Given the description of an element on the screen output the (x, y) to click on. 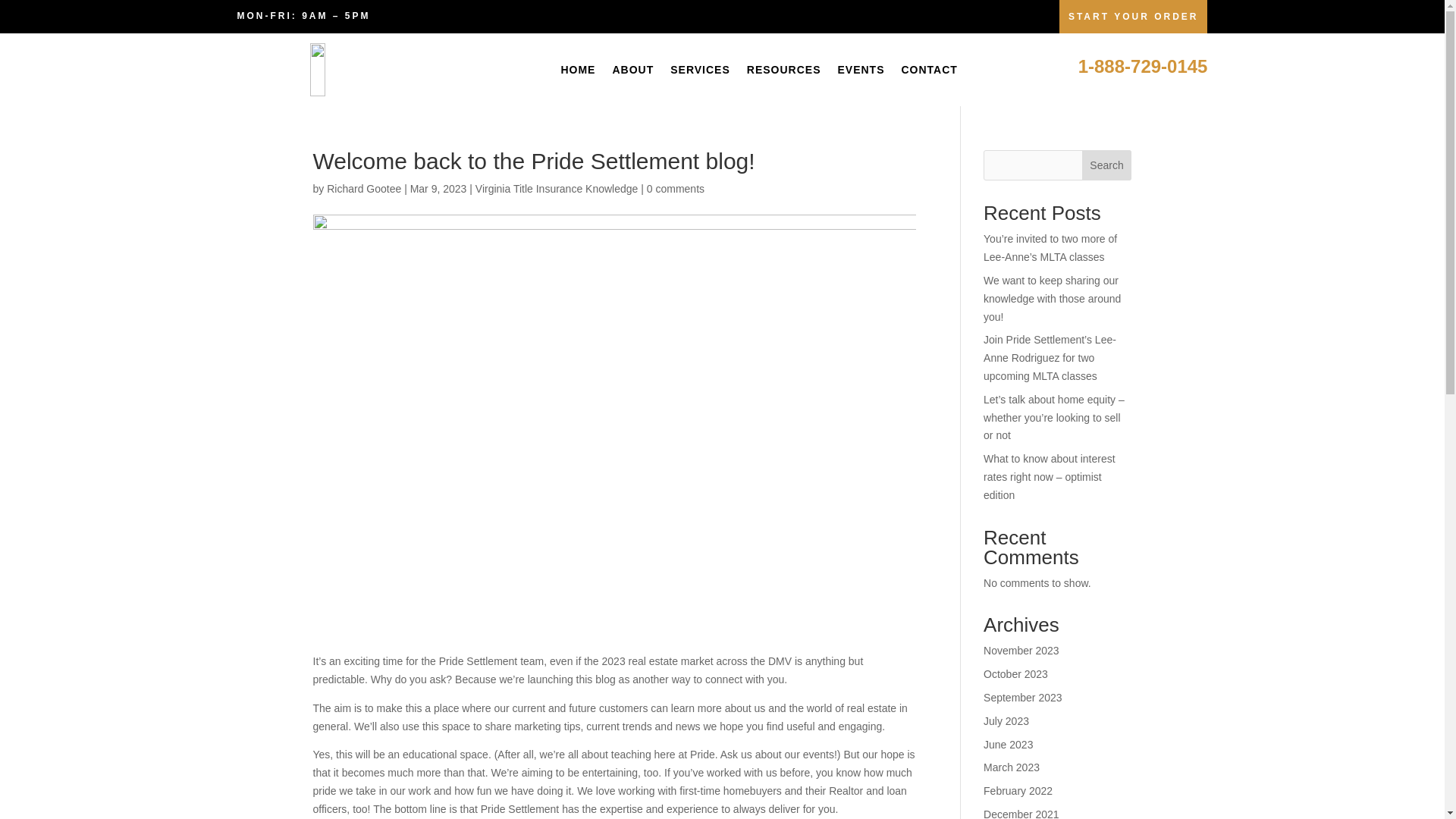
September 2023 (1023, 697)
We want to keep sharing our knowledge with those around you! (1052, 298)
1-888-729-0145 (1143, 66)
March 2023 (1011, 767)
SERVICES (699, 69)
December 2021 (1021, 813)
RESOURCES (783, 69)
Virginia Title Insurance Knowledge (557, 188)
July 2023 (1006, 720)
Posts by Richard Gootee (363, 188)
